Given the description of an element on the screen output the (x, y) to click on. 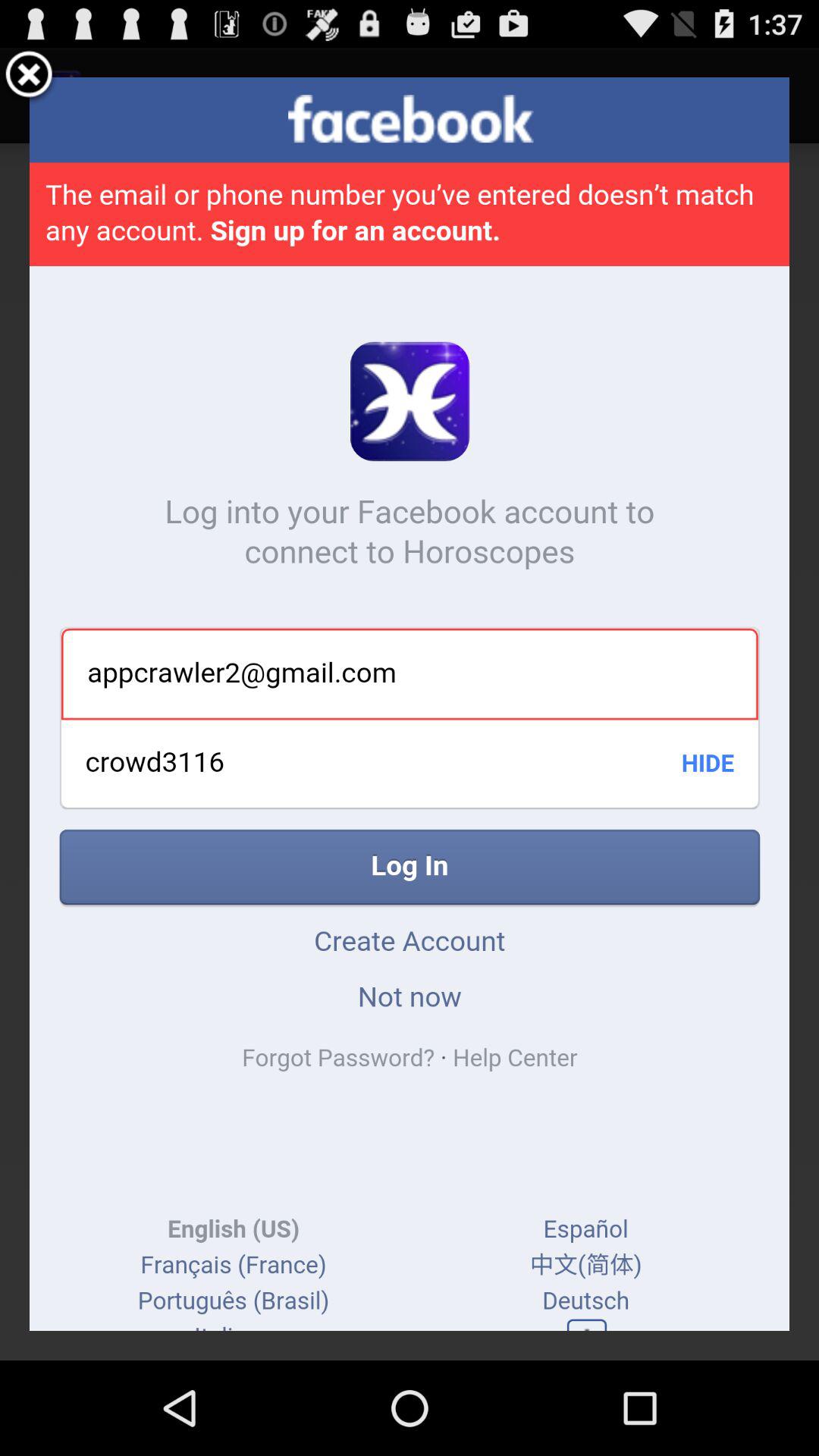
close form (29, 76)
